Given the description of an element on the screen output the (x, y) to click on. 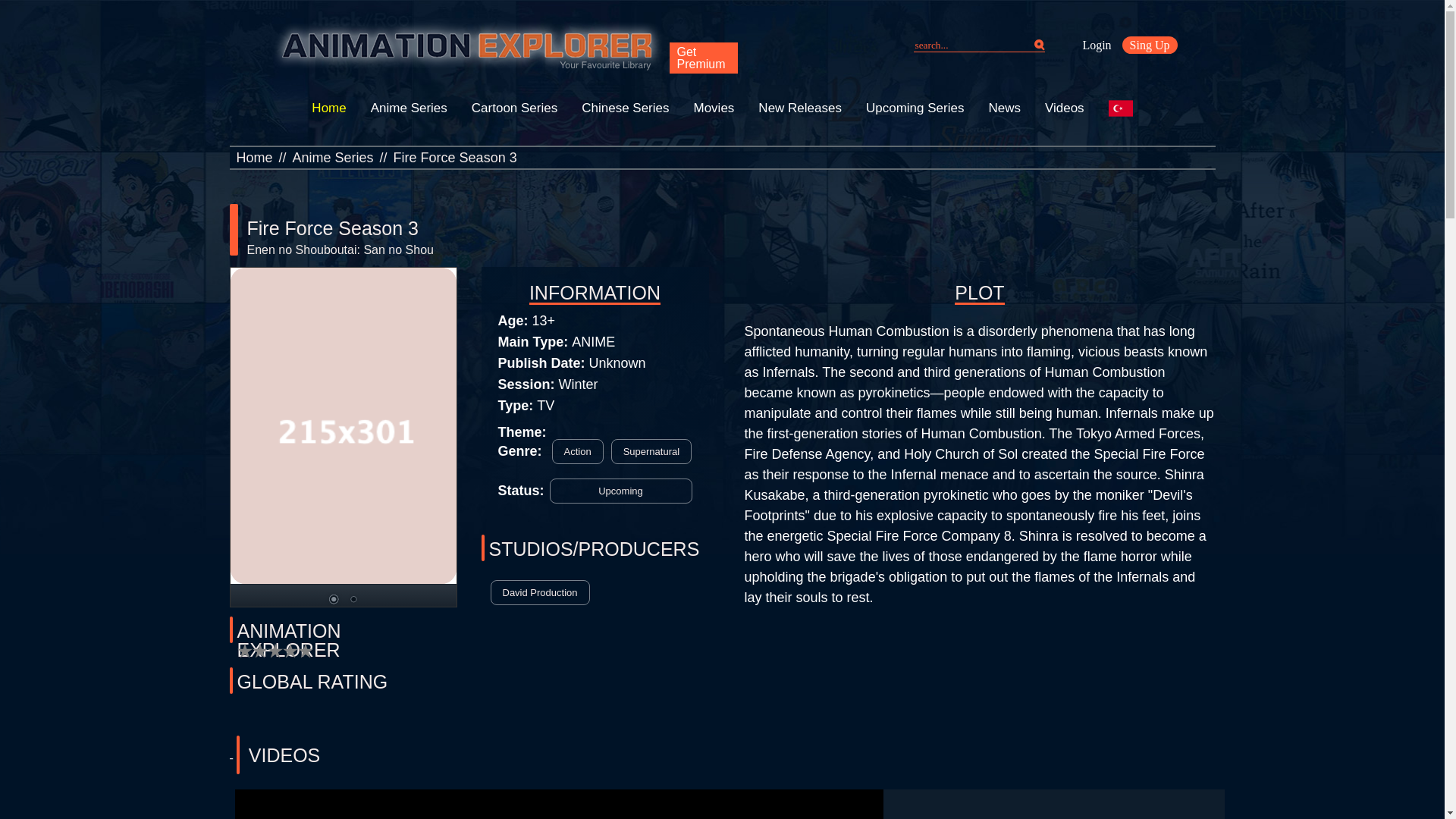
Action (577, 451)
David Production (539, 592)
New Releases (799, 107)
Get Premium (702, 57)
1 (332, 600)
Movies (713, 107)
Fire Force Season 3 (454, 157)
Anime Series (409, 107)
Anime Series (333, 157)
Cartoon Series (514, 107)
2 (352, 600)
Home (254, 157)
Upcoming Series (914, 107)
Upcoming (621, 490)
Chinese Series (625, 107)
